Given the description of an element on the screen output the (x, y) to click on. 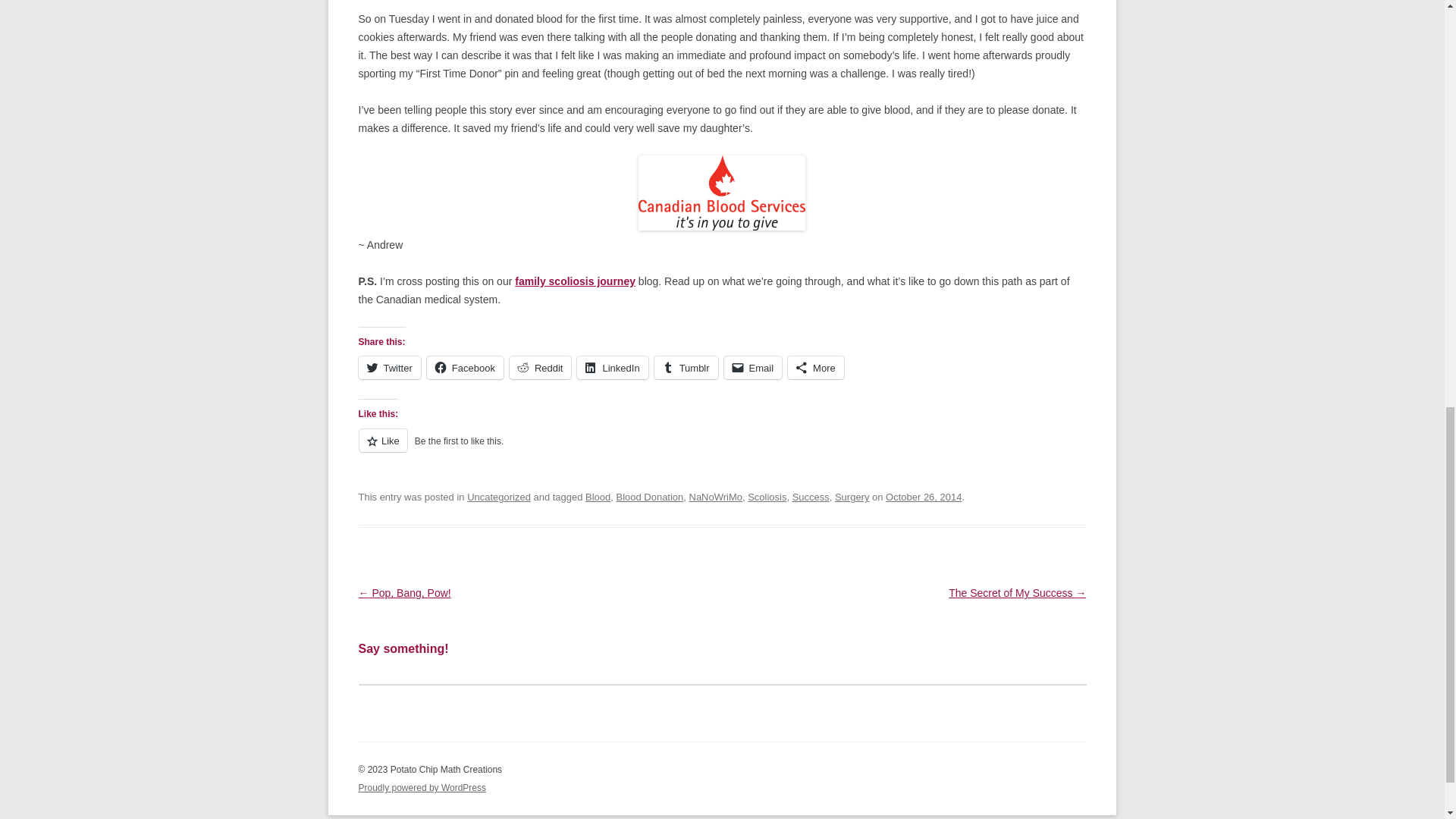
Blood (597, 496)
family scoliosis journey (574, 281)
Click to share on Reddit (540, 367)
Twitter (389, 367)
Success (810, 496)
Blood Donation (648, 496)
Uncategorized (499, 496)
Like or Reblog (722, 449)
Semantic Personal Publishing Platform (422, 787)
Email (753, 367)
Click to share on Facebook (464, 367)
Reddit (540, 367)
LinkedIn (611, 367)
Tumblr (685, 367)
NaNoWriMo (715, 496)
